Given the description of an element on the screen output the (x, y) to click on. 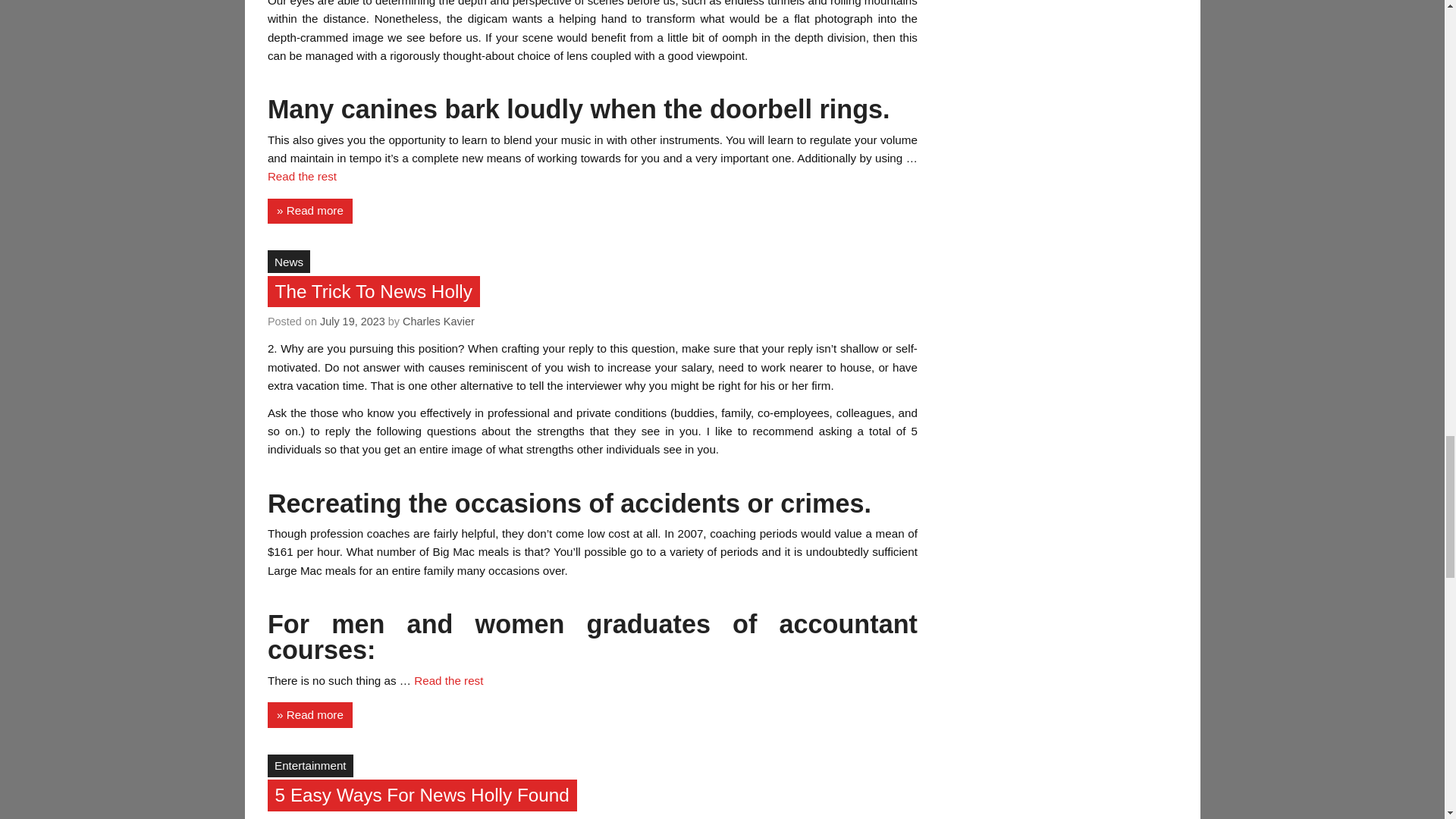
7:42 am (352, 321)
View all posts by Charles Kavier (438, 321)
